Given the description of an element on the screen output the (x, y) to click on. 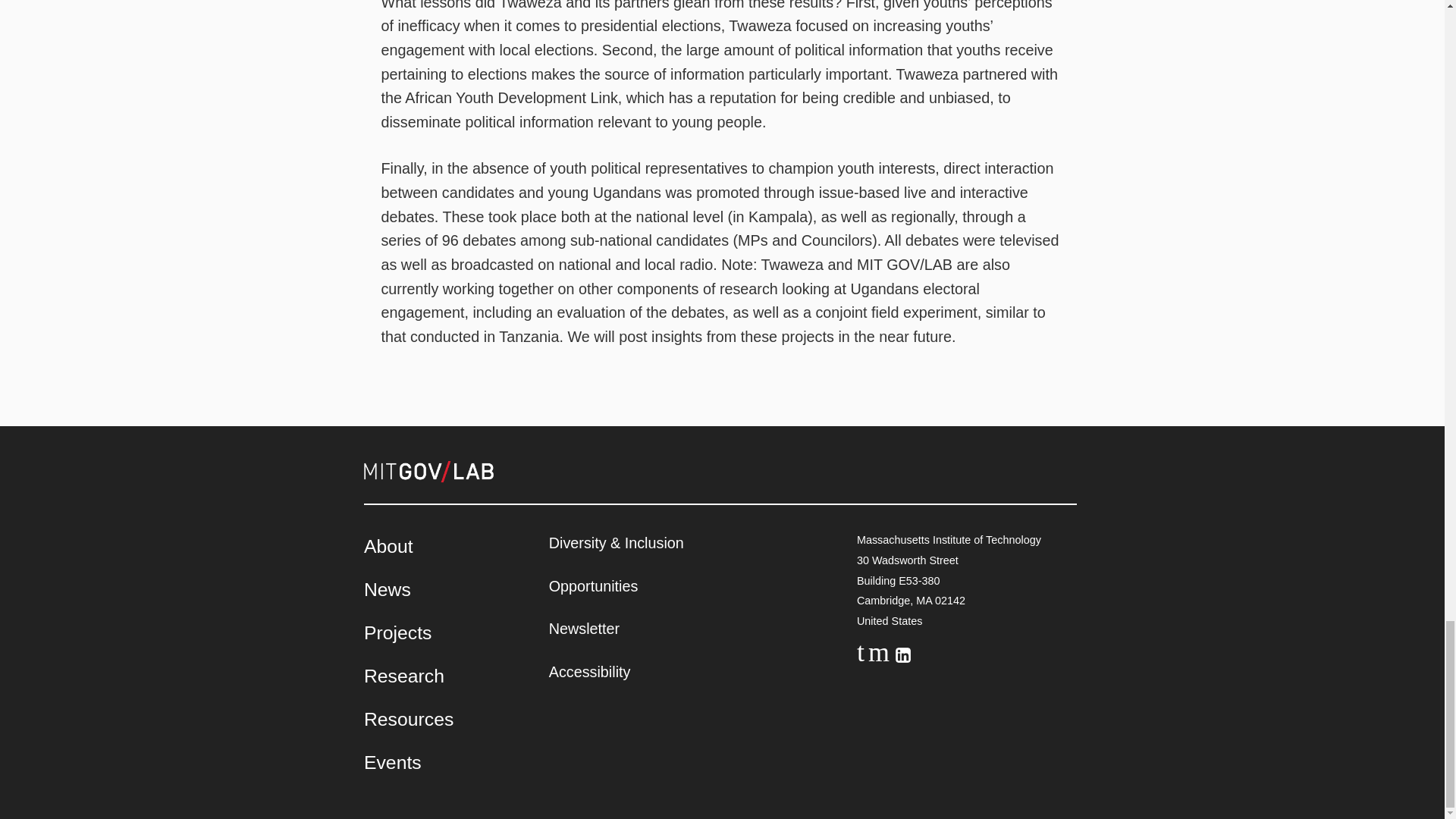
About (388, 546)
Events (393, 762)
Accessibility (589, 670)
Resources (408, 719)
News (387, 589)
Opportunities (593, 586)
Projects (397, 632)
Newsletter (584, 628)
Research (404, 675)
